Given the description of an element on the screen output the (x, y) to click on. 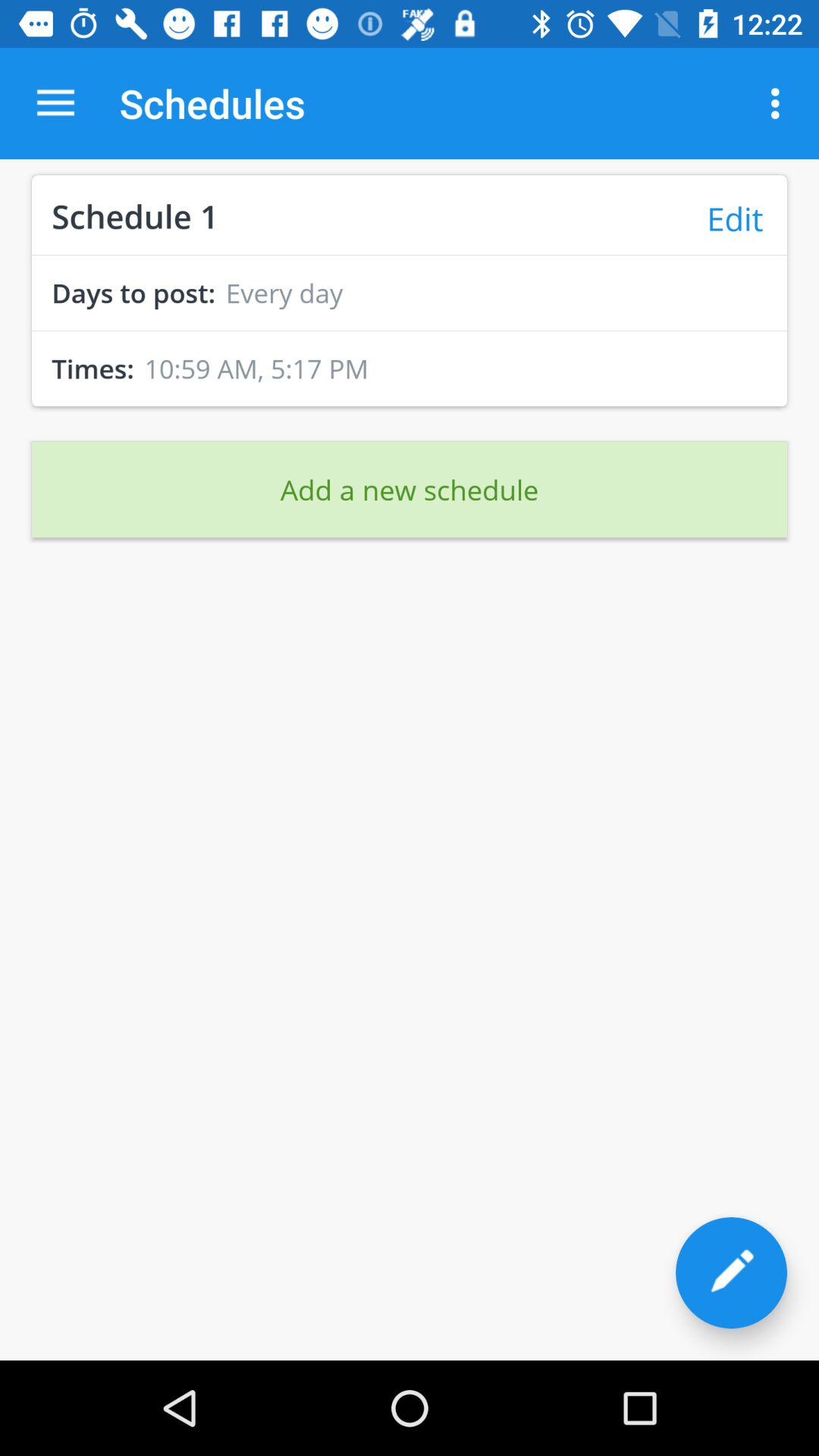
launch the icon above the add a new icon (409, 406)
